Given the description of an element on the screen output the (x, y) to click on. 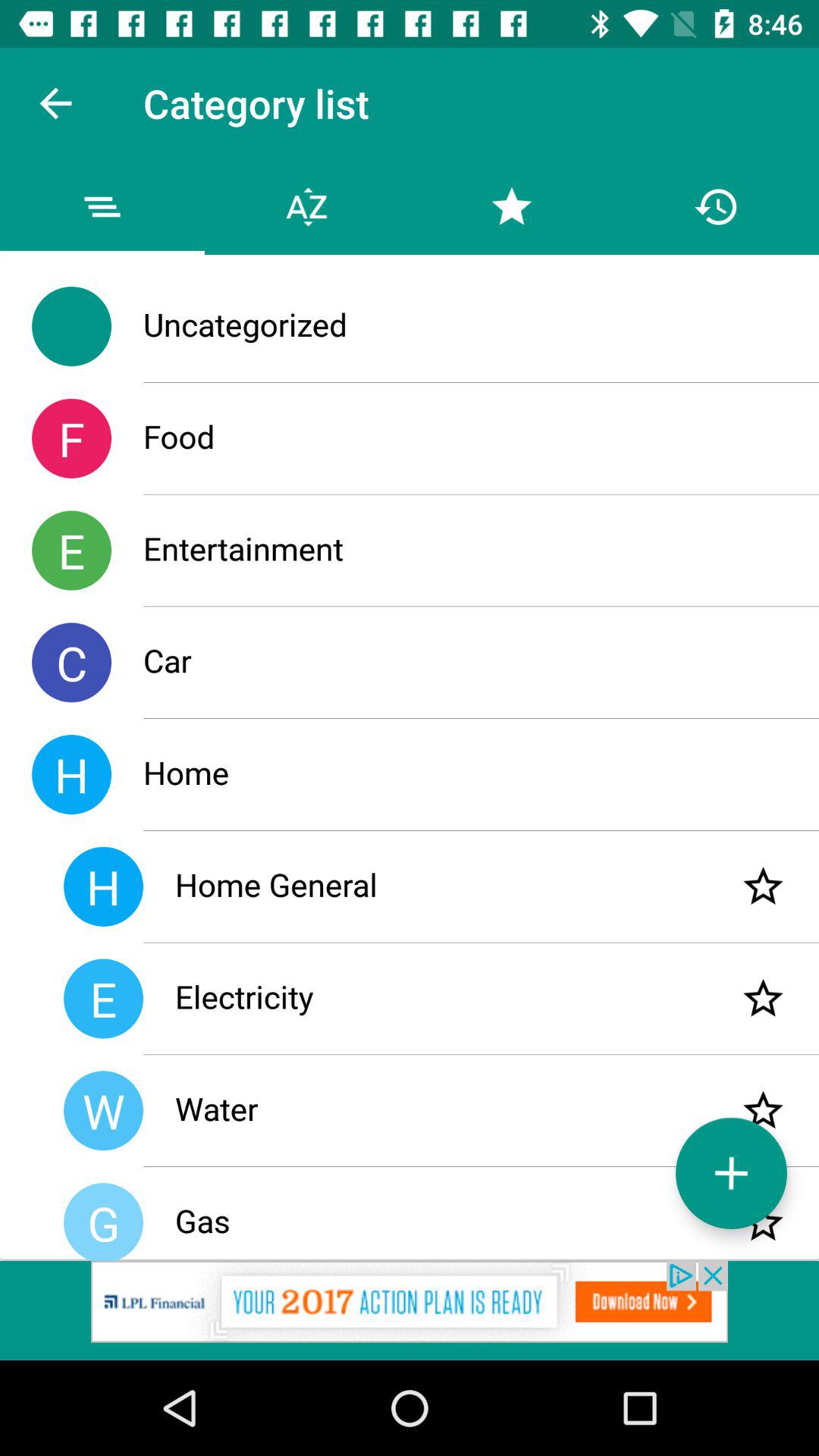
star water (763, 1110)
